Given the description of an element on the screen output the (x, y) to click on. 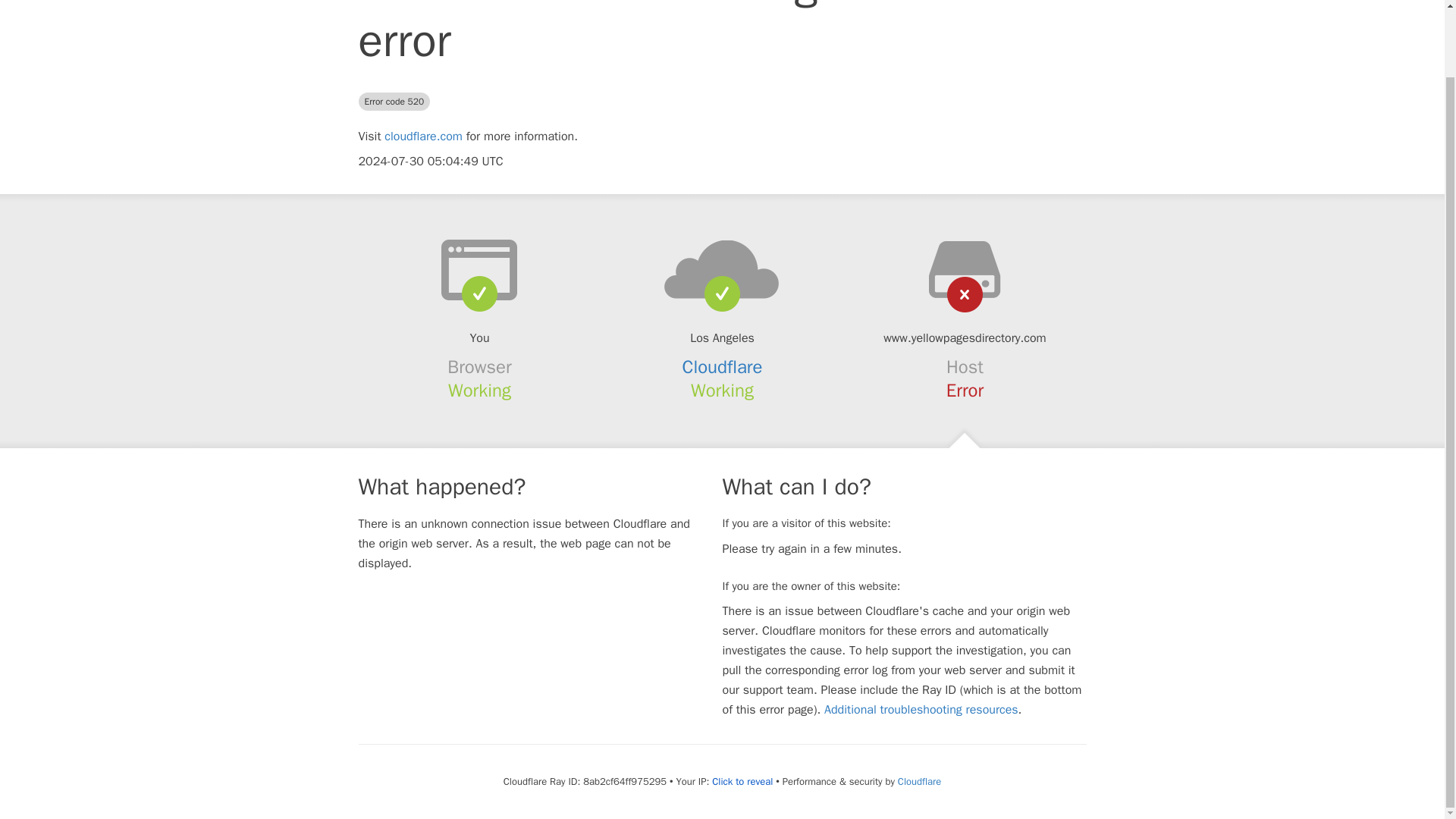
Click to reveal (742, 781)
cloudflare.com (423, 136)
Cloudflare (919, 780)
Cloudflare (722, 366)
Additional troubleshooting resources (920, 709)
